Given the description of an element on the screen output the (x, y) to click on. 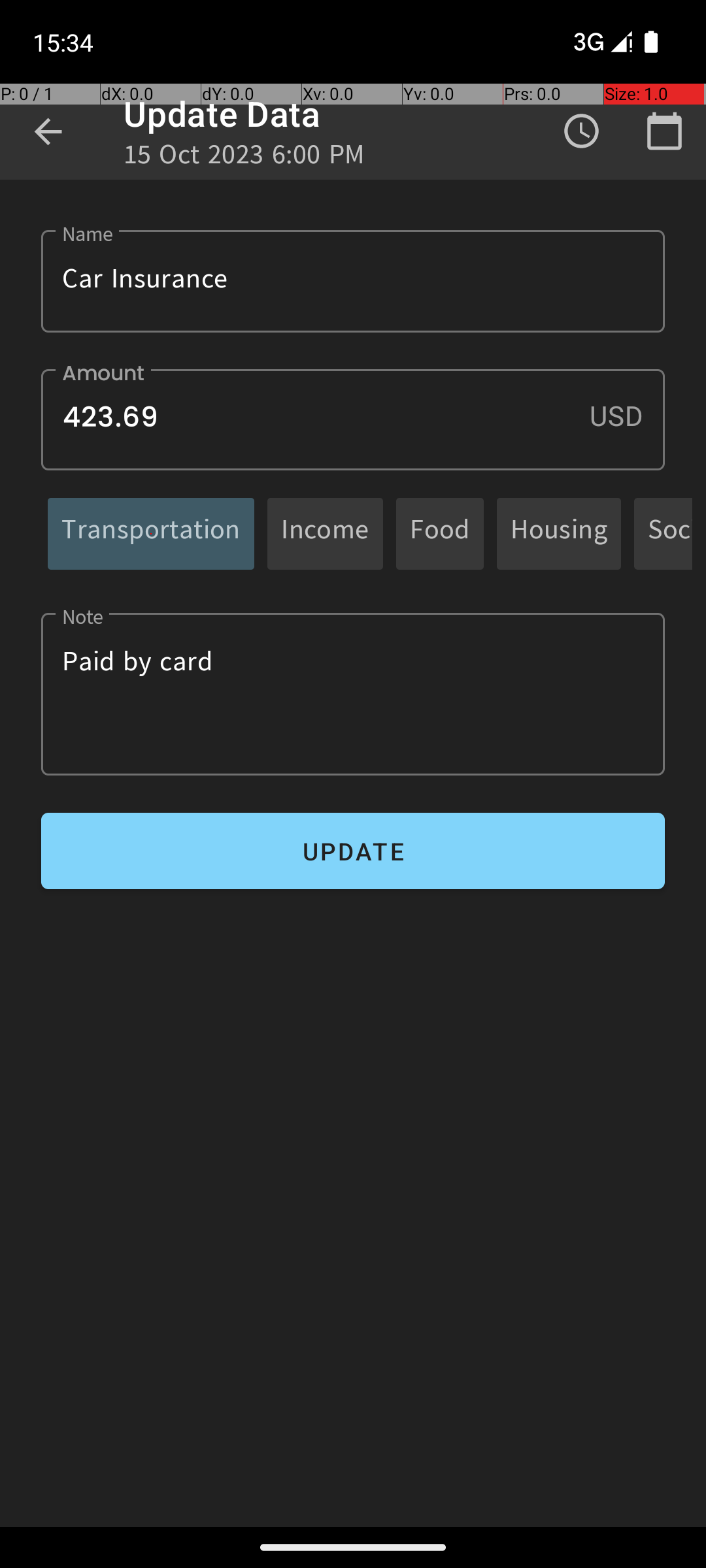
15 Oct 2023 6:00 PM Element type: android.widget.TextView (244, 157)
Car Insurance Element type: android.widget.EditText (352, 280)
423.69 Element type: android.widget.EditText (352, 419)
Paid by card Element type: android.widget.EditText (352, 693)
Transportation Element type: android.widget.TextView (150, 533)
